Given the description of an element on the screen output the (x, y) to click on. 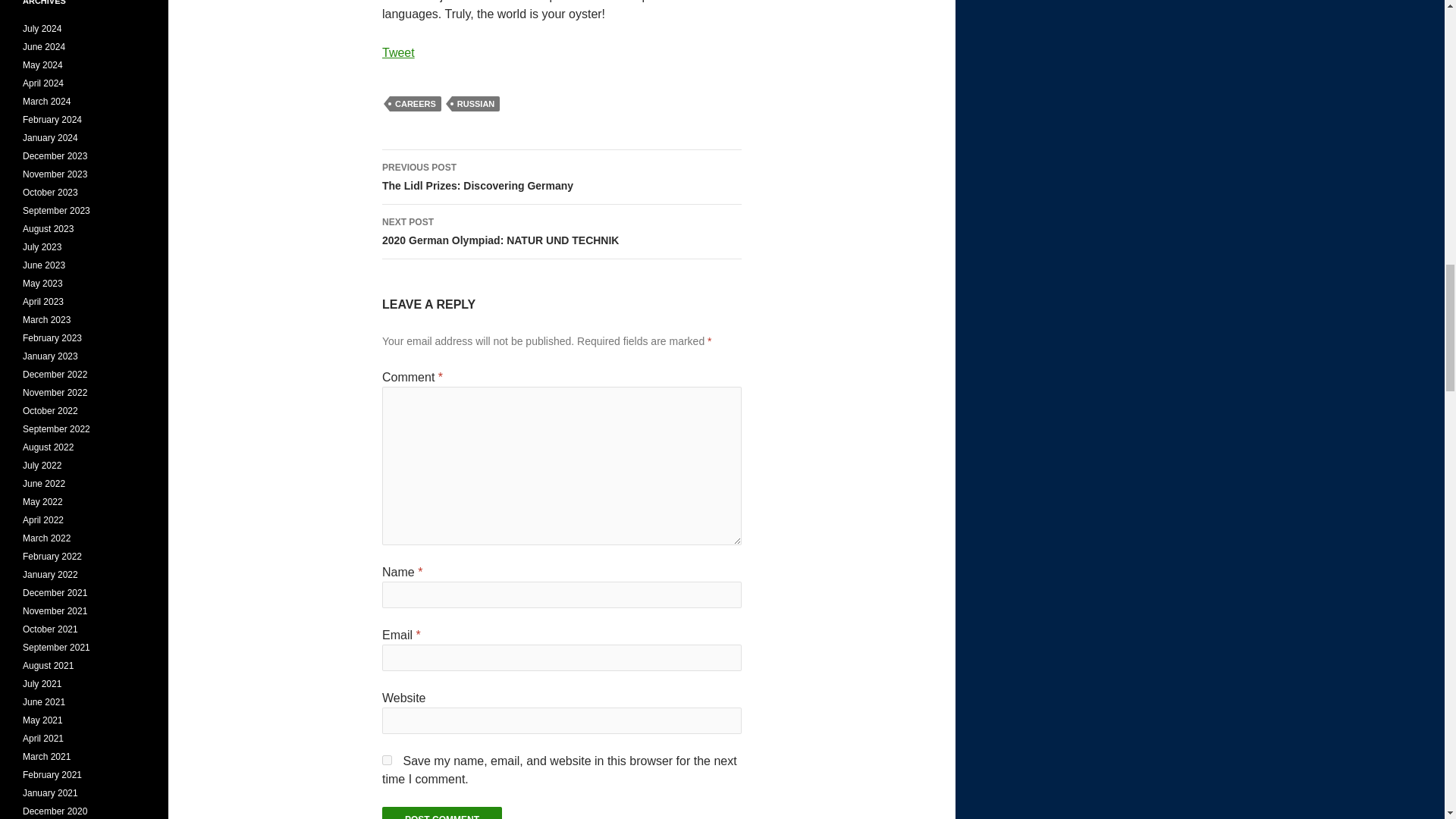
Tweet (397, 51)
Post Comment (561, 231)
Post Comment (441, 812)
yes (441, 812)
RUSSIAN (386, 759)
CAREERS (475, 103)
